Given the description of an element on the screen output the (x, y) to click on. 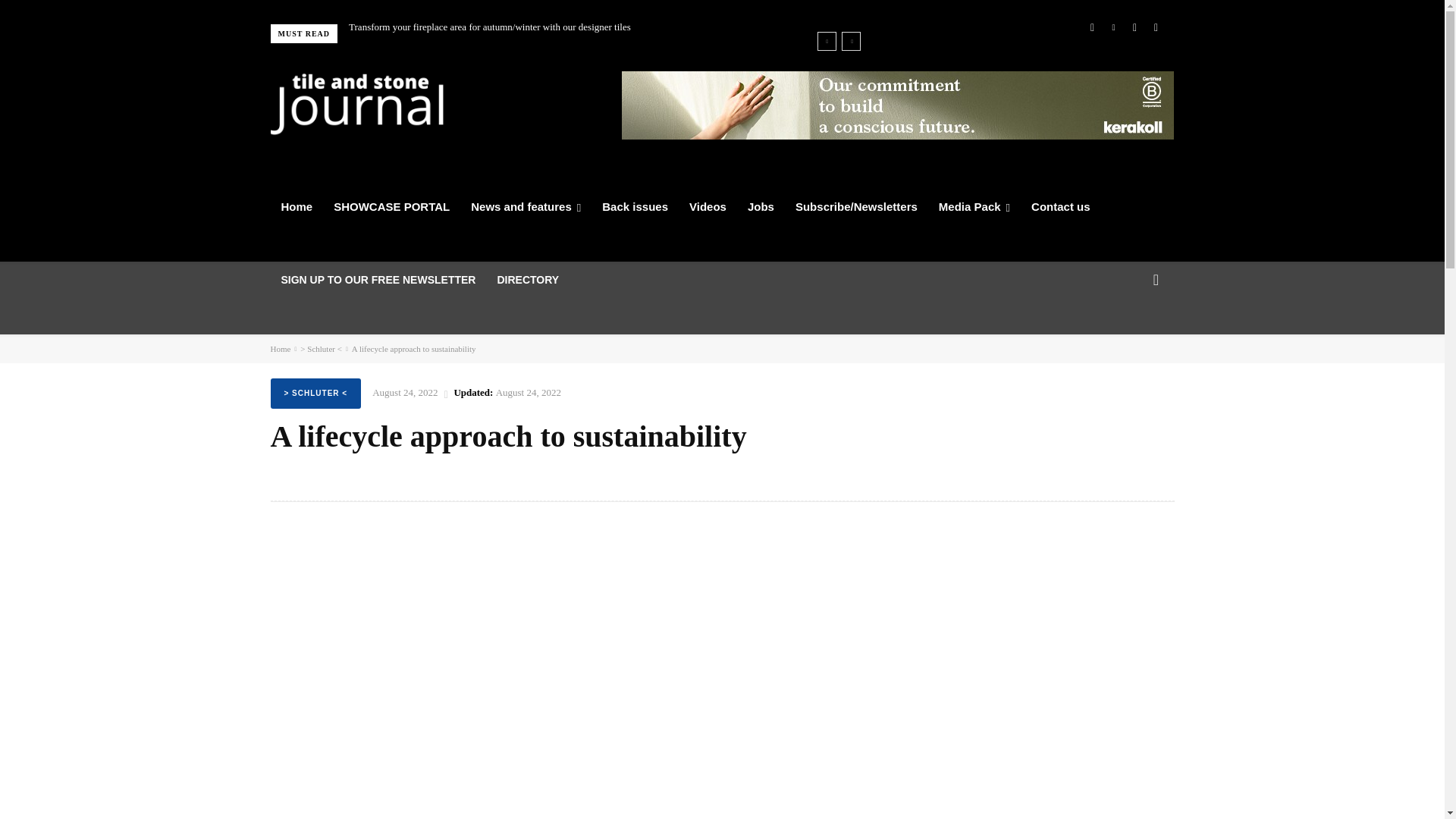
News and features (525, 207)
Home (296, 207)
Linkedin (1113, 26)
Twitter (1134, 26)
SHOWCASE PORTAL (391, 207)
Facebook (1091, 26)
